Given the description of an element on the screen output the (x, y) to click on. 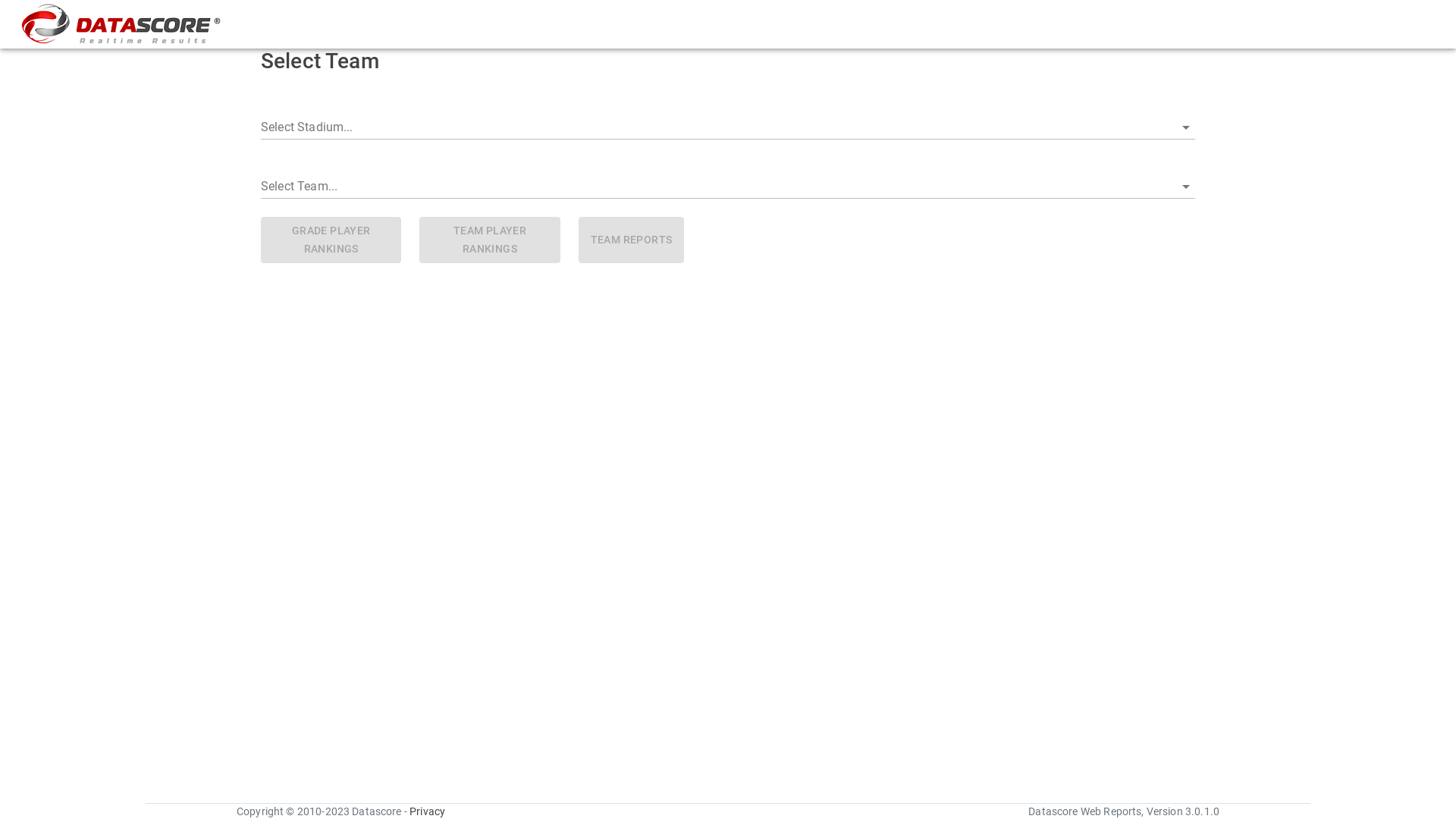
Privacy Element type: text (450, 811)
